Given the description of an element on the screen output the (x, y) to click on. 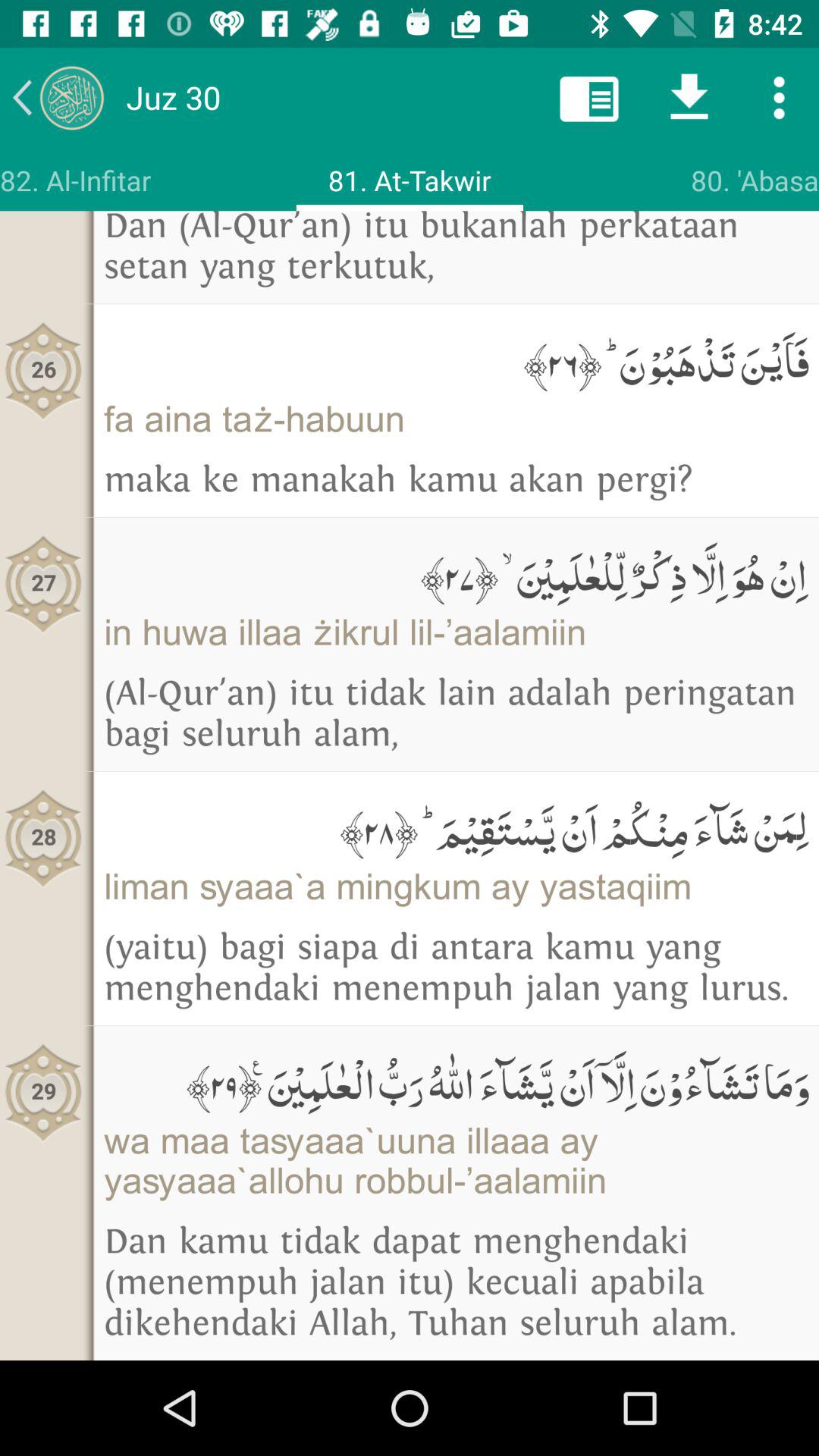
select the icon below 82. al-infitar item (43, 370)
